Given the description of an element on the screen output the (x, y) to click on. 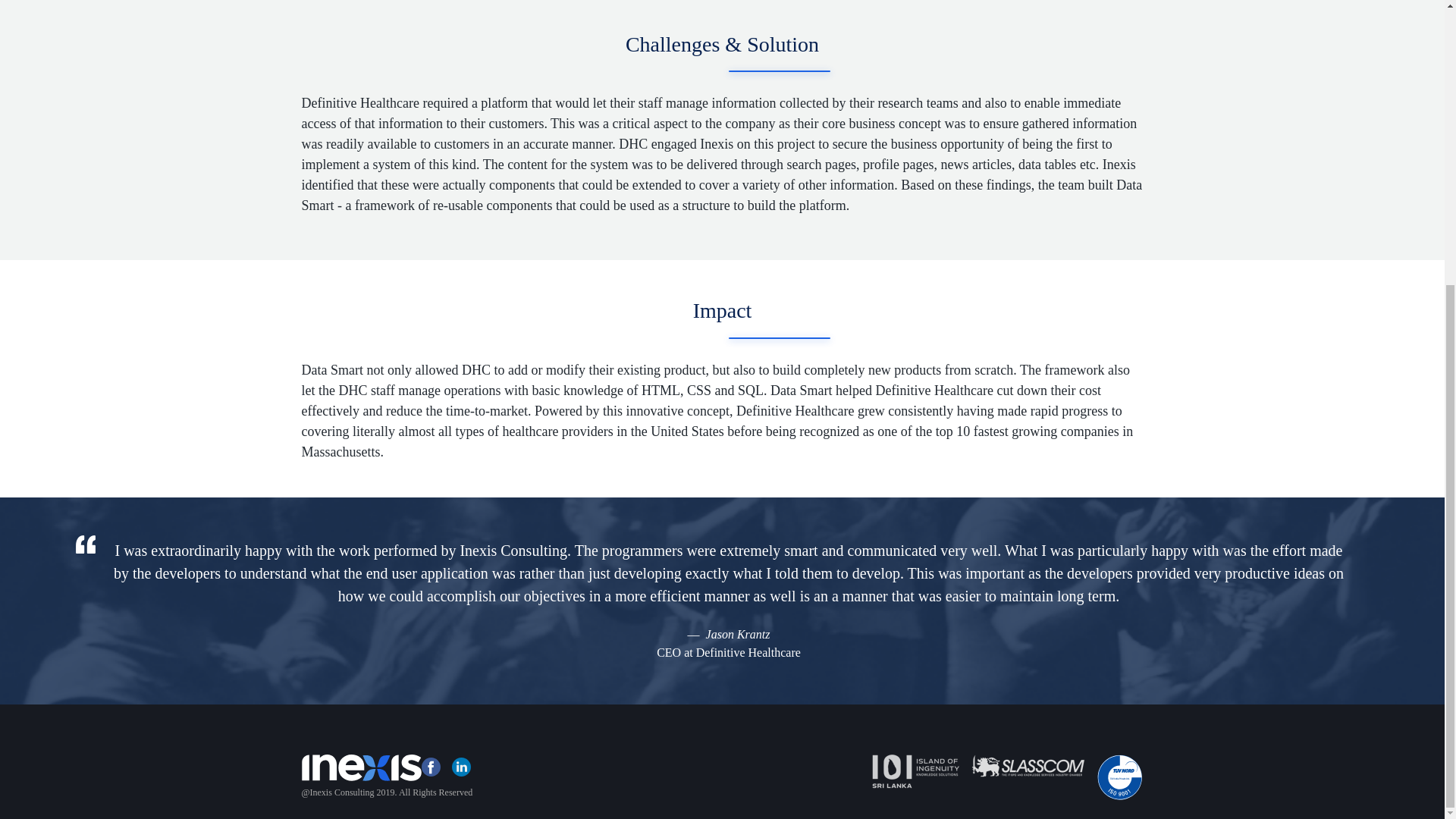
Source Title (728, 652)
Source Title (738, 634)
